Given the description of an element on the screen output the (x, y) to click on. 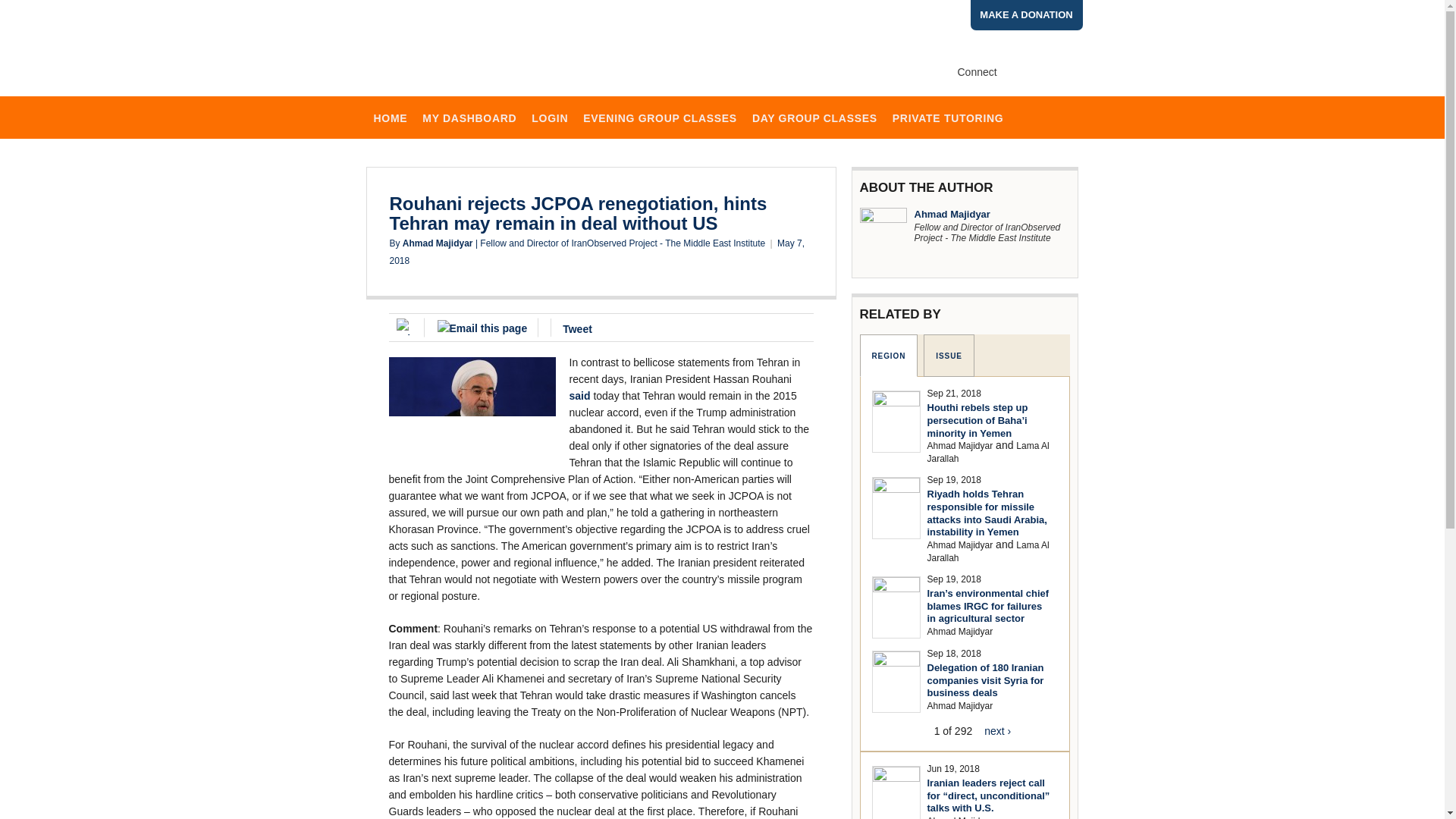
EVENING GROUP CLASSES (659, 117)
HOME (389, 117)
RSS (966, 90)
DAY GROUP CLASSES (814, 117)
MY DASHBOARD (469, 117)
MAKE A DONATION (1027, 15)
PRIVATE TUTORING (948, 117)
newsletter (1066, 71)
facebook (1014, 71)
LOGIN (549, 117)
twitter (1039, 71)
